Given the description of an element on the screen output the (x, y) to click on. 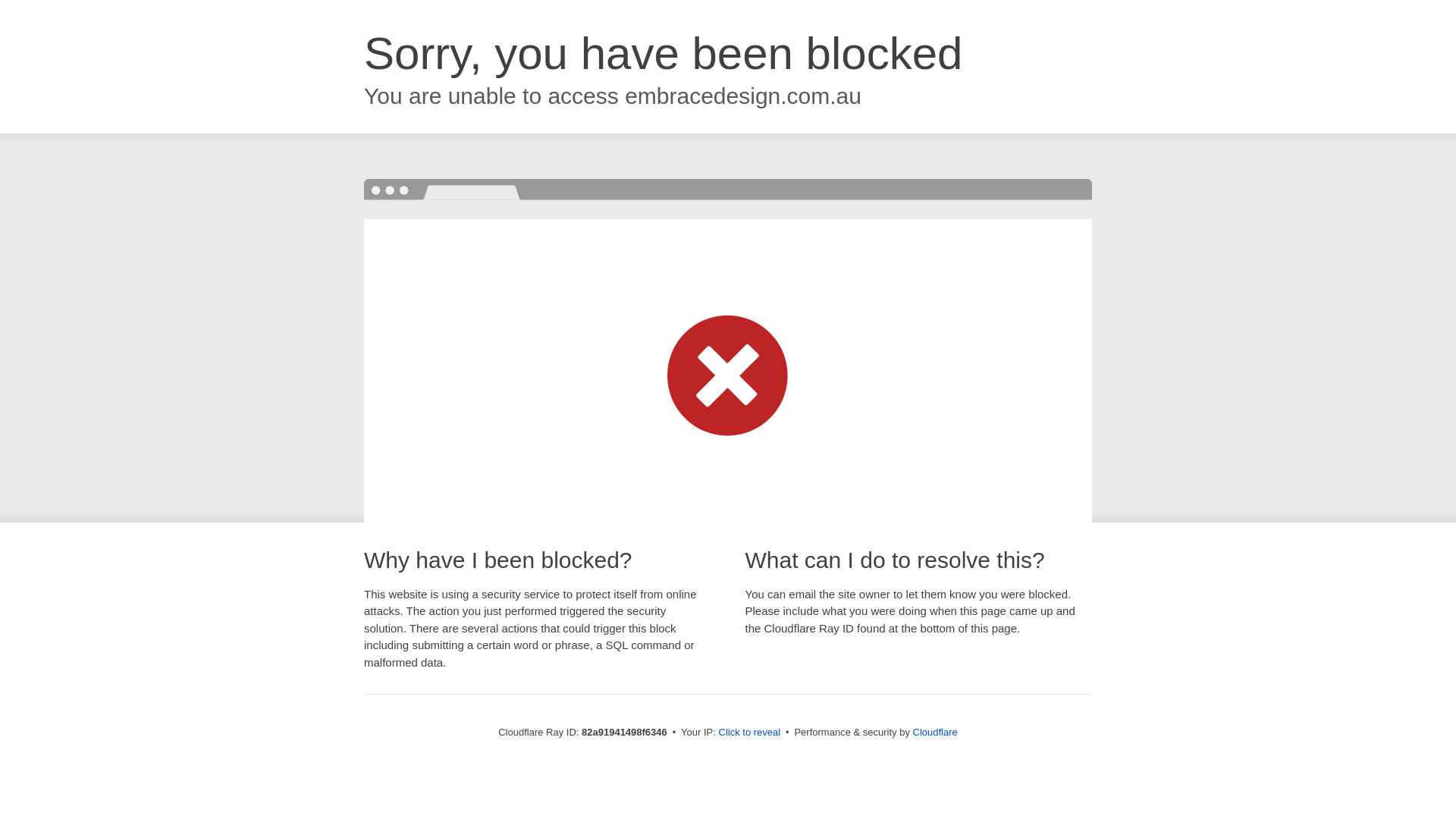
Click to reveal Element type: text (749, 732)
Cloudflare Element type: text (935, 731)
